Given the description of an element on the screen output the (x, y) to click on. 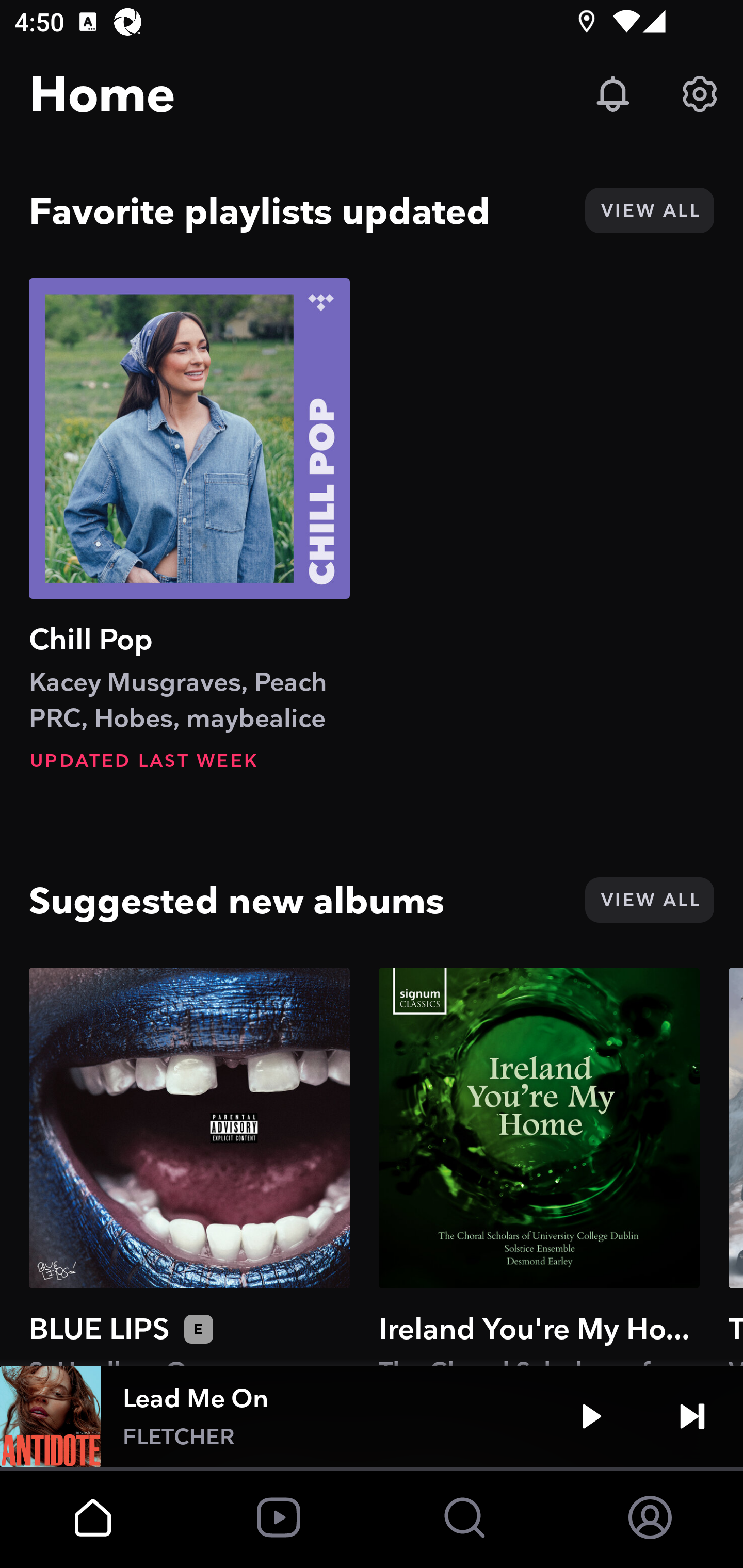
Updates (612, 93)
Settings (699, 93)
VIEW ALL (649, 210)
VIEW ALL (649, 899)
BLUE LIPS ScHoolboy Q (188, 1166)
Lead Me On FLETCHER Play (371, 1416)
Play (590, 1416)
